Given the description of an element on the screen output the (x, y) to click on. 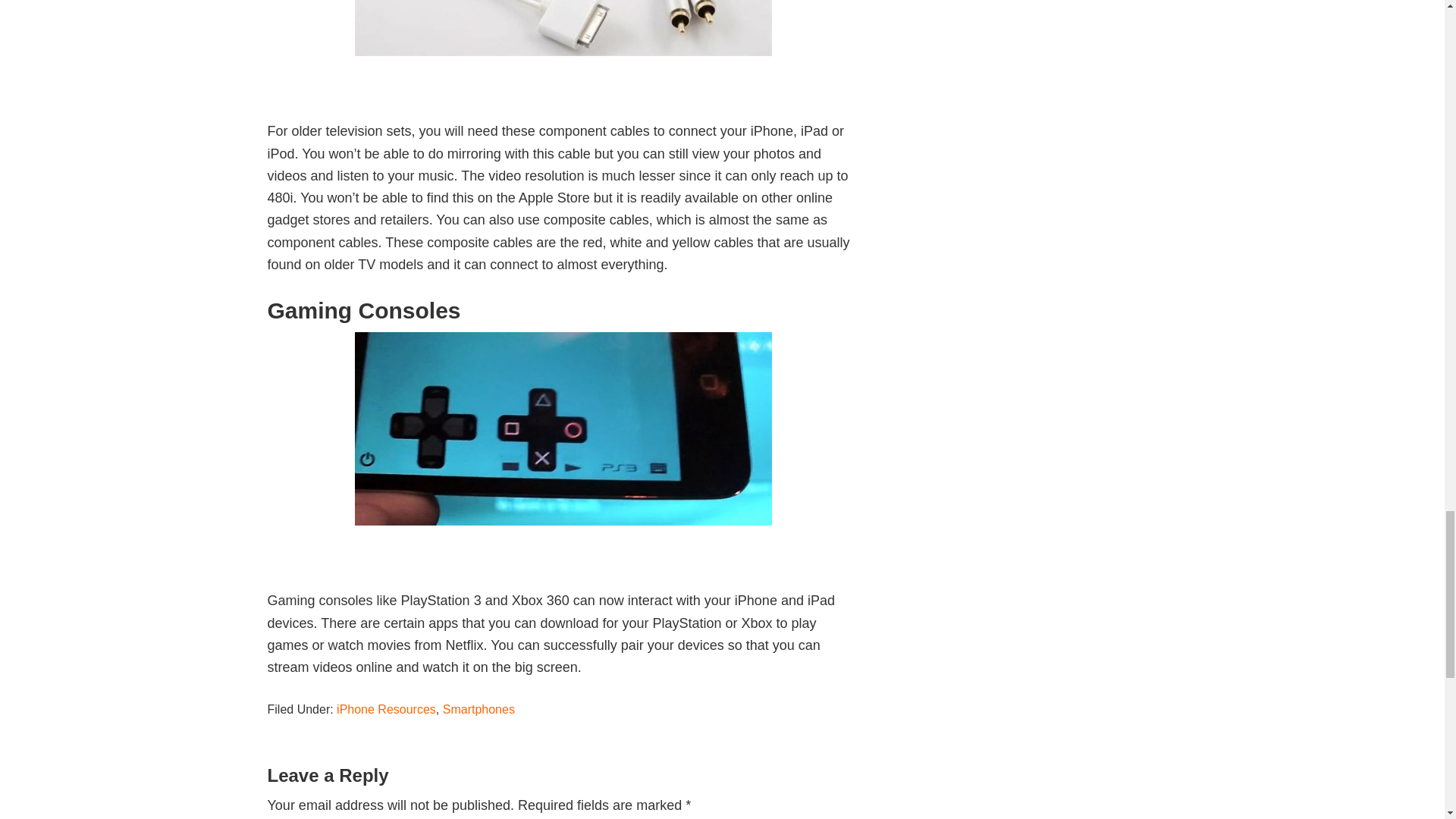
Smartphones (478, 708)
iPhone Resources (385, 708)
